Given the description of an element on the screen output the (x, y) to click on. 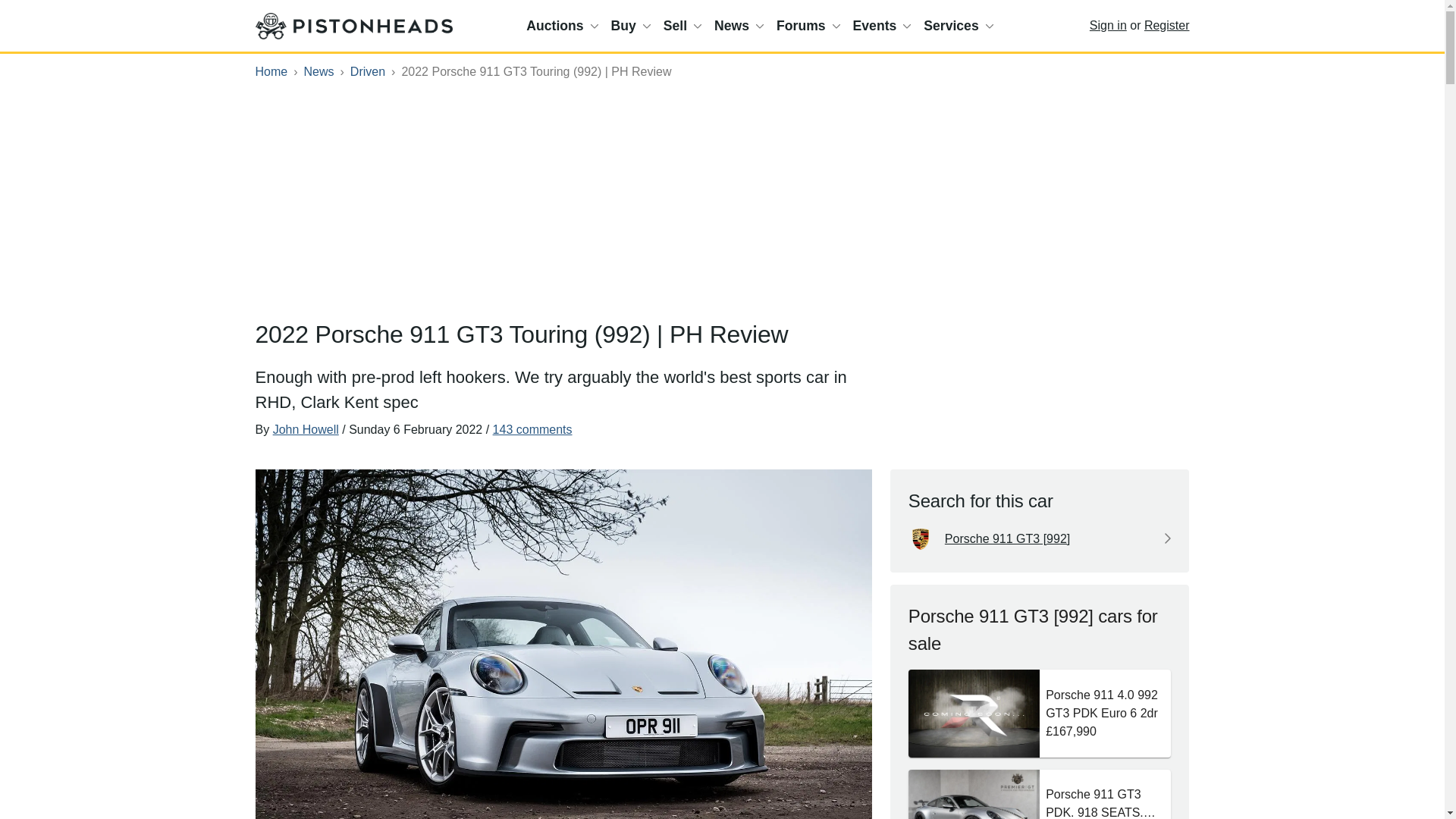
Sell (682, 25)
Auctions (561, 25)
Buy (631, 25)
News (738, 25)
Forums (808, 25)
